Given the description of an element on the screen output the (x, y) to click on. 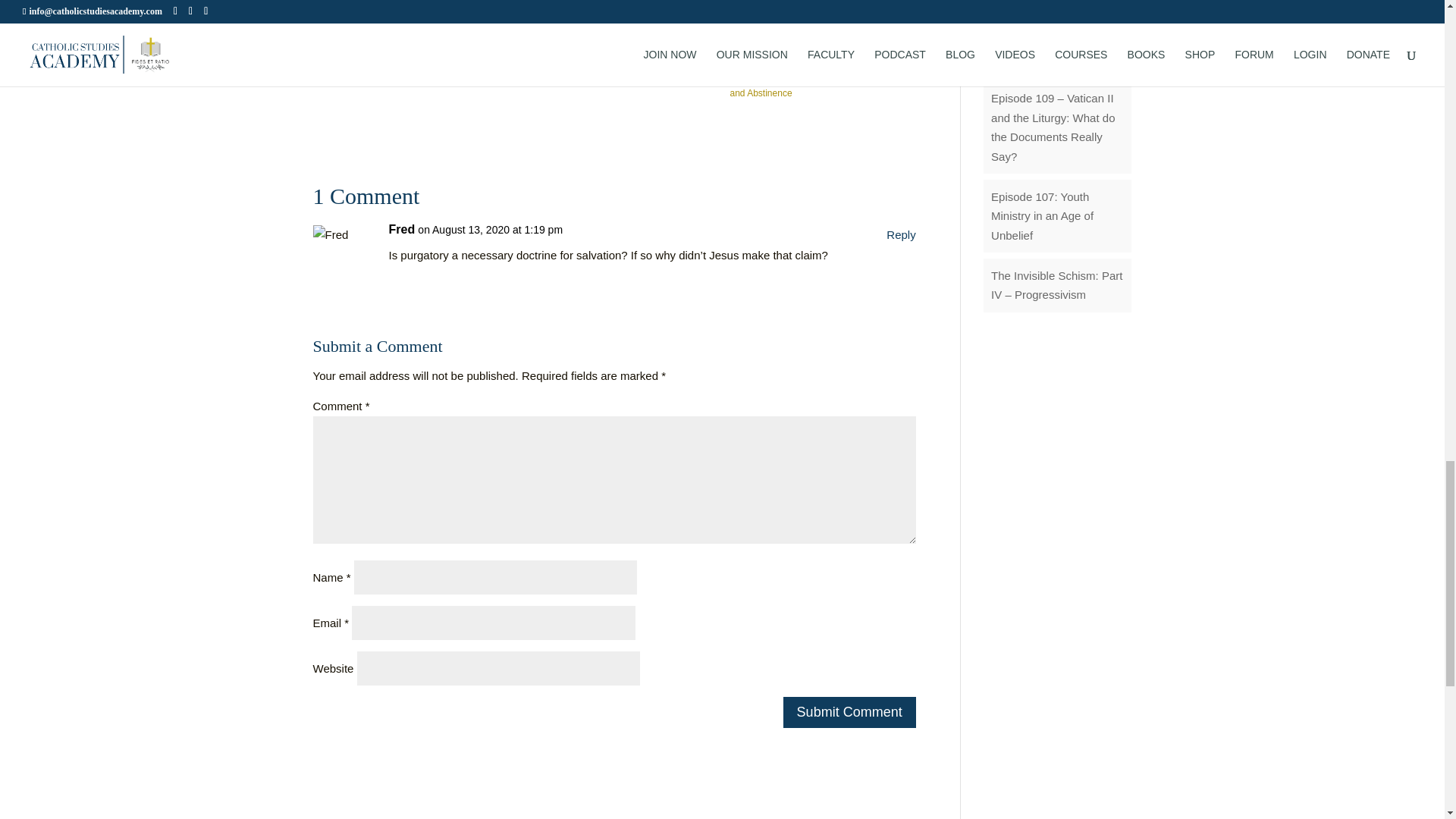
Women and the Diaconate? (350, 58)
Submit Comment (849, 712)
Judas, Peter, and Me (684, 58)
The Holy Spirit: Giver of Life and the Paraclete (433, 65)
On Lent and Being Human: Penance, Fasting, and Abstinence (767, 72)
